Given the description of an element on the screen output the (x, y) to click on. 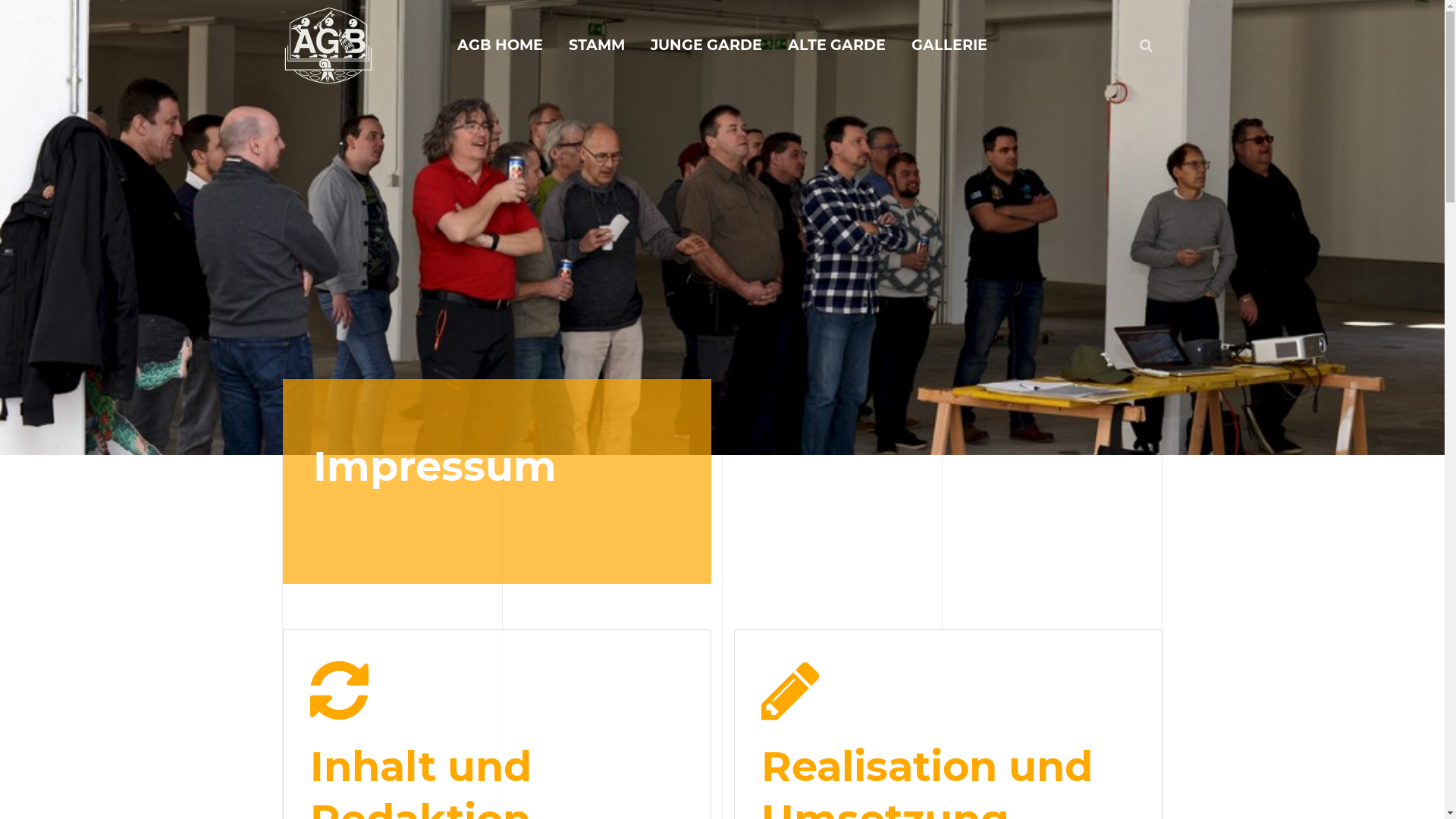
AGB HOME Element type: text (499, 44)
ALTE GARDE Element type: text (836, 44)
GALLERIE Element type: text (949, 44)
STAMM Element type: text (596, 44)
JUNGE GARDE Element type: text (706, 44)
